Given the description of an element on the screen output the (x, y) to click on. 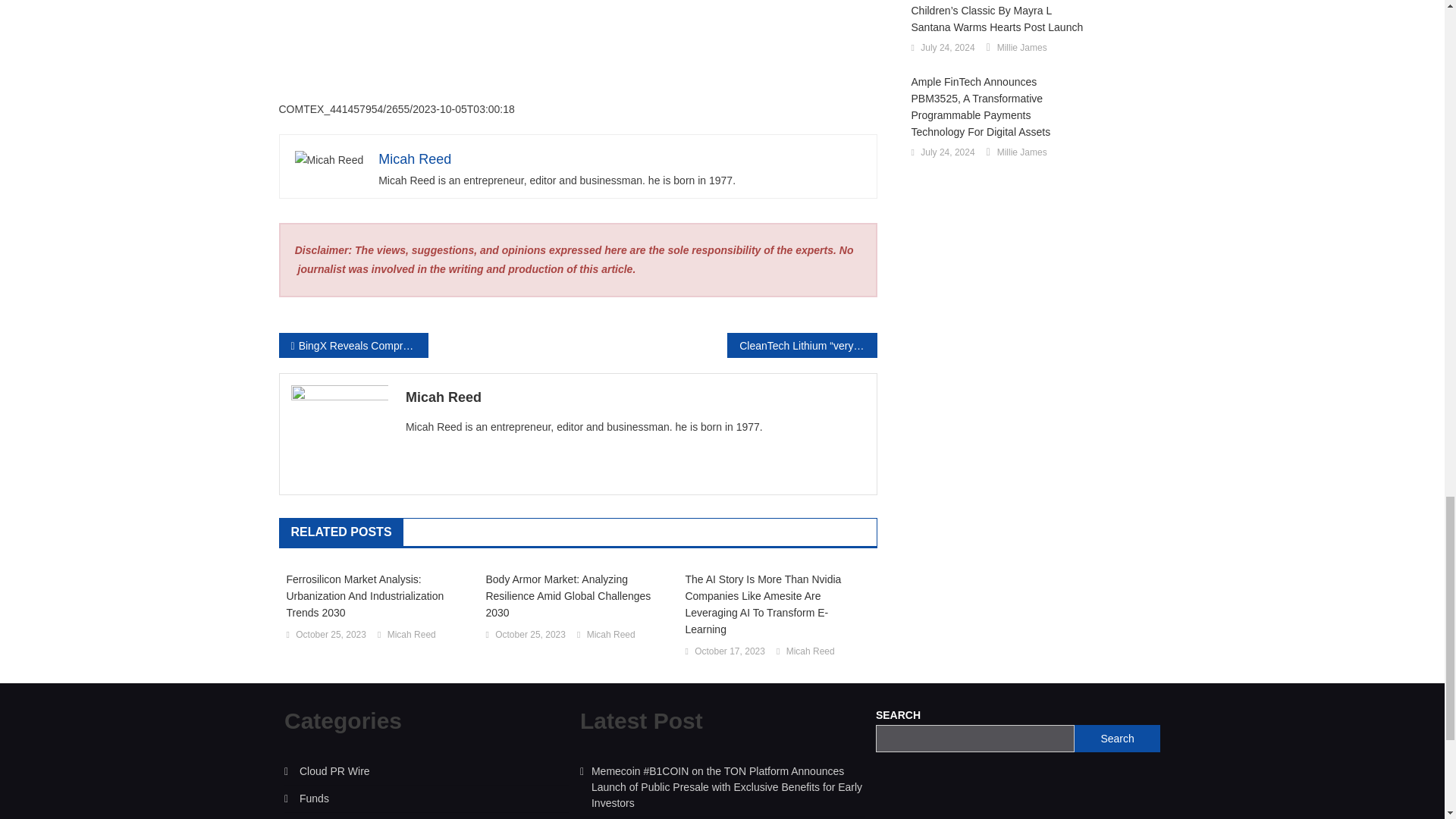
October 25, 2023 (530, 635)
Micah Reed (635, 396)
Micah Reed (414, 159)
Micah Reed (411, 635)
October 25, 2023 (330, 635)
Micah Reed (610, 635)
